Given the description of an element on the screen output the (x, y) to click on. 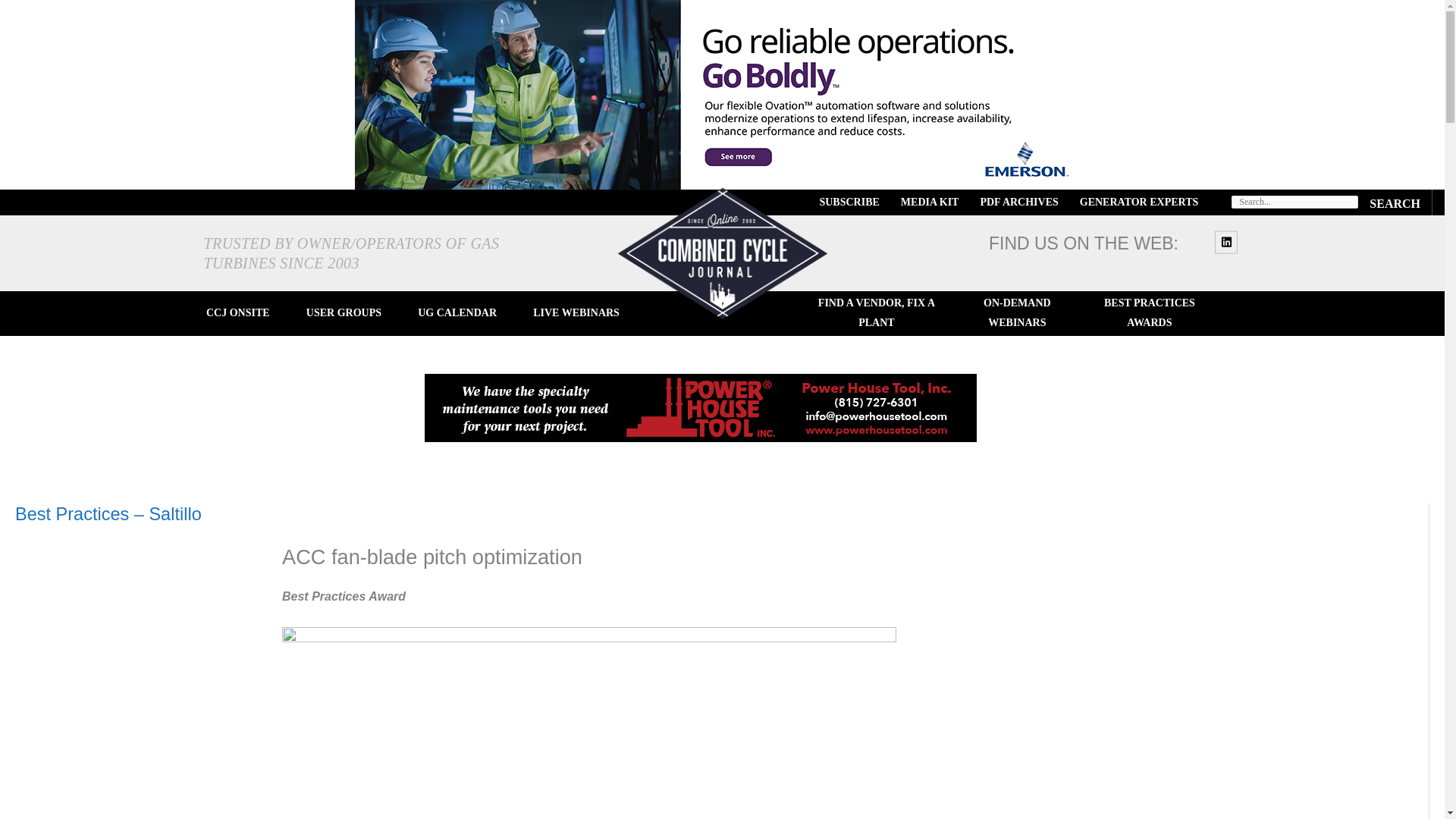
MEDIA KIT (929, 201)
Search (1394, 202)
PDF ARCHIVES (1018, 201)
USER GROUPS (343, 313)
FIND A VENDOR, FIX A PLANT (876, 313)
BEST PRACTICES AWARDS (1148, 313)
Search (1394, 202)
UG CALENDAR (456, 313)
Search (1394, 202)
SUBSCRIBE (848, 201)
